Given the description of an element on the screen output the (x, y) to click on. 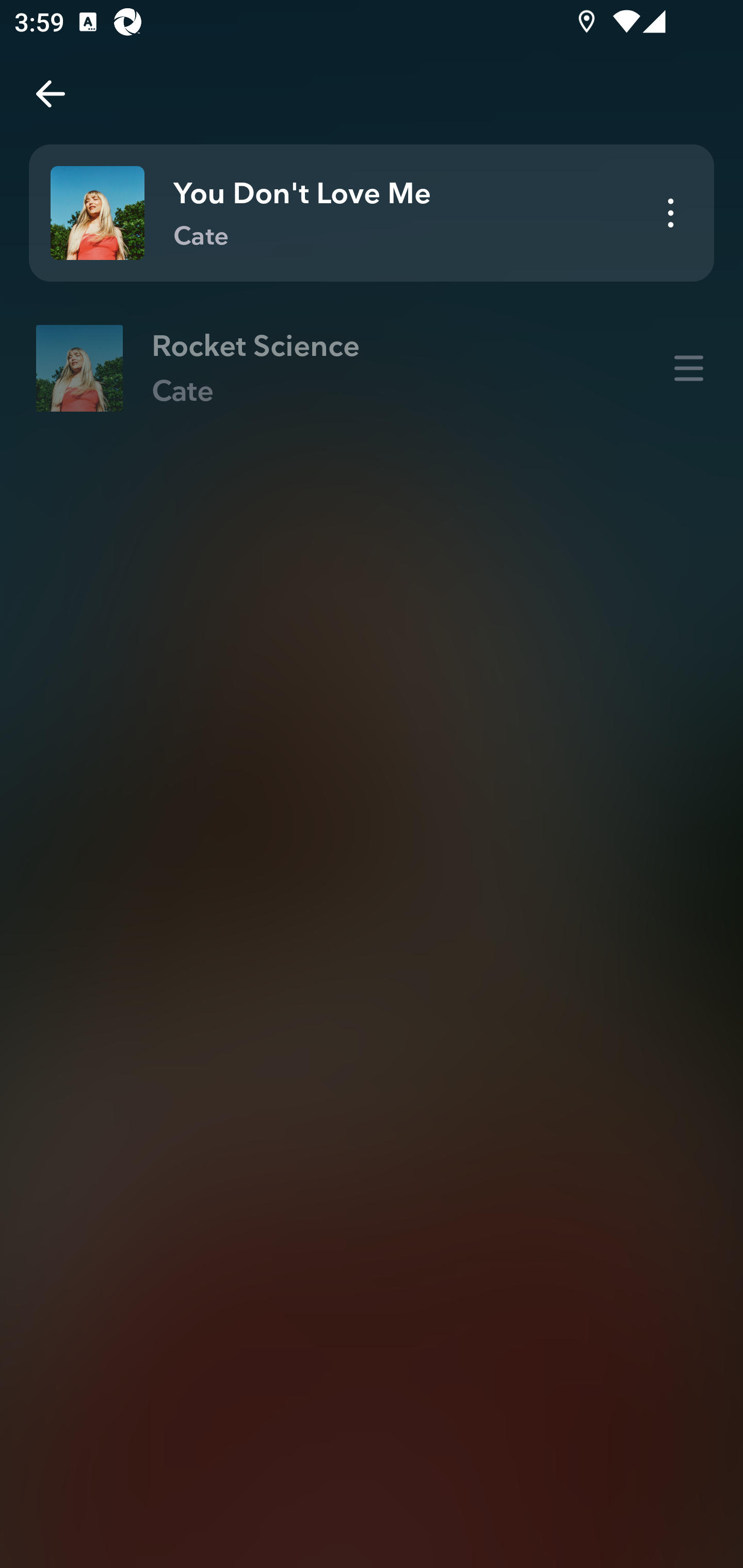
You Don't Love Me Cate (371, 213)
